Given the description of an element on the screen output the (x, y) to click on. 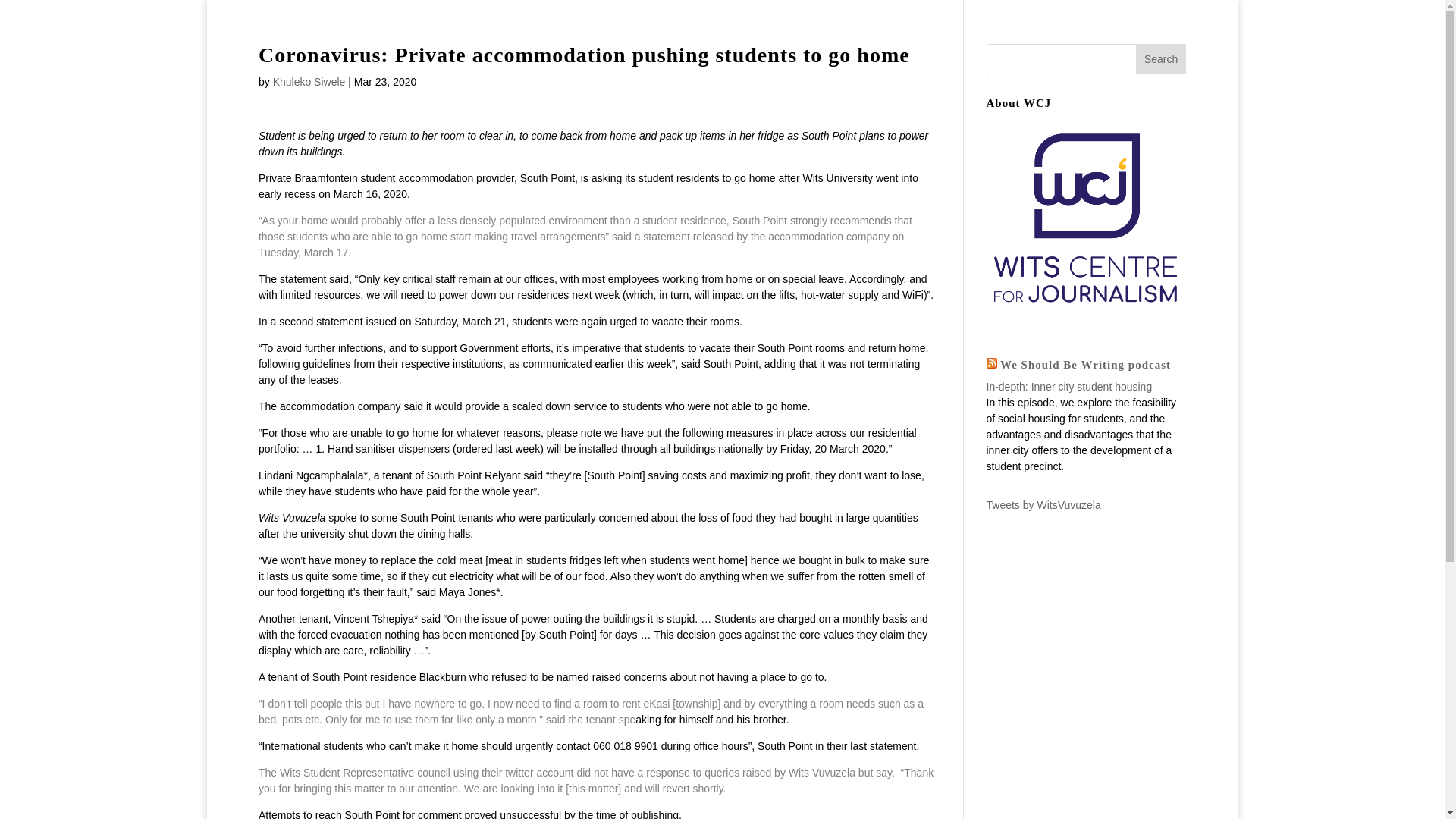
Posts by Khuleko Siwele (309, 81)
Search (1160, 59)
